Given the description of an element on the screen output the (x, y) to click on. 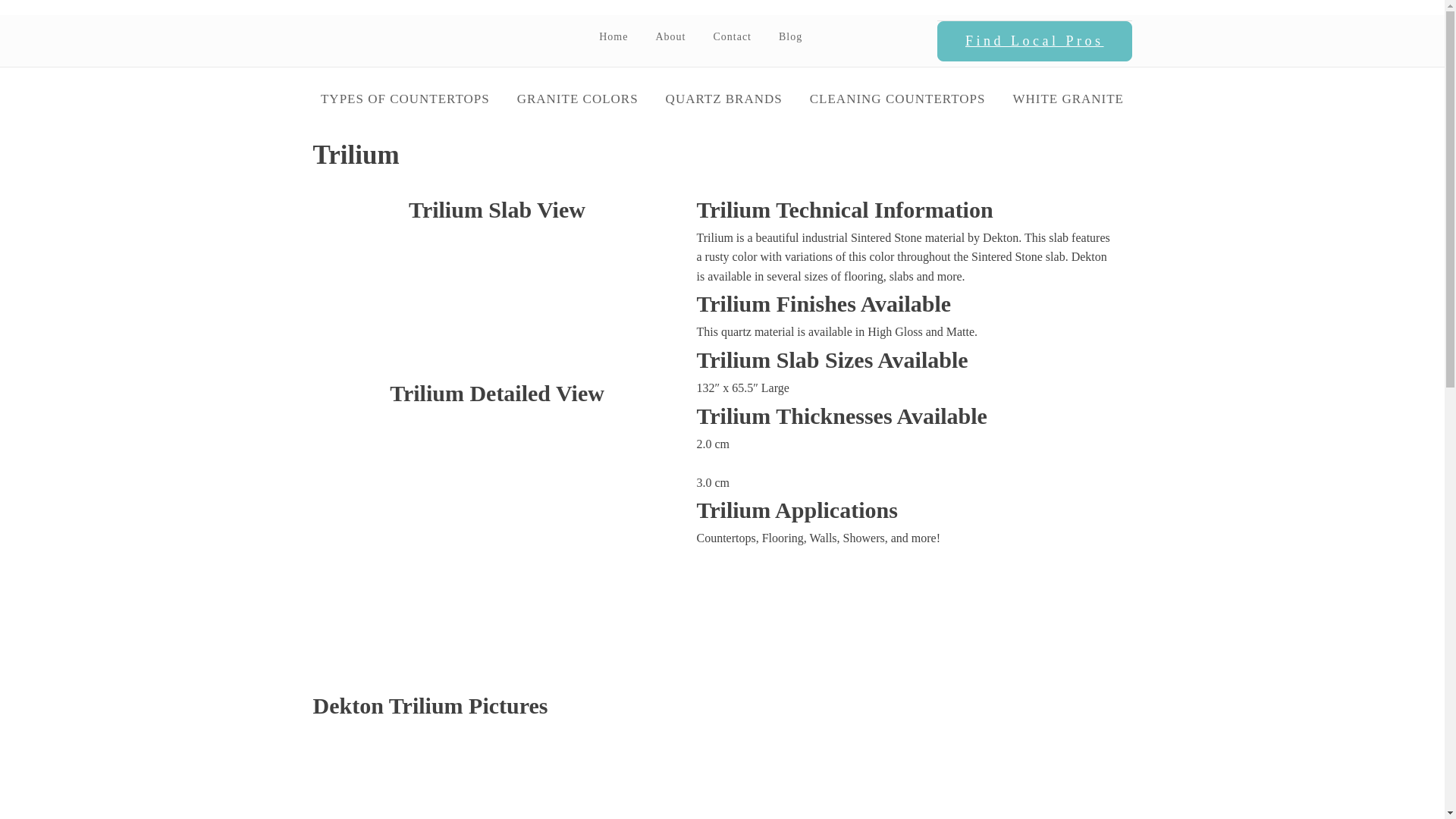
TYPES OF COUNTERTOPS (405, 98)
CLEANING COUNTERTOPS (897, 98)
Find Local Pros (1034, 41)
About (670, 36)
Home (613, 36)
Blog (790, 36)
GRANITE COLORS (577, 98)
Contact (731, 36)
QUARTZ BRANDS (724, 98)
WHITE GRANITE (1067, 98)
